Given the description of an element on the screen output the (x, y) to click on. 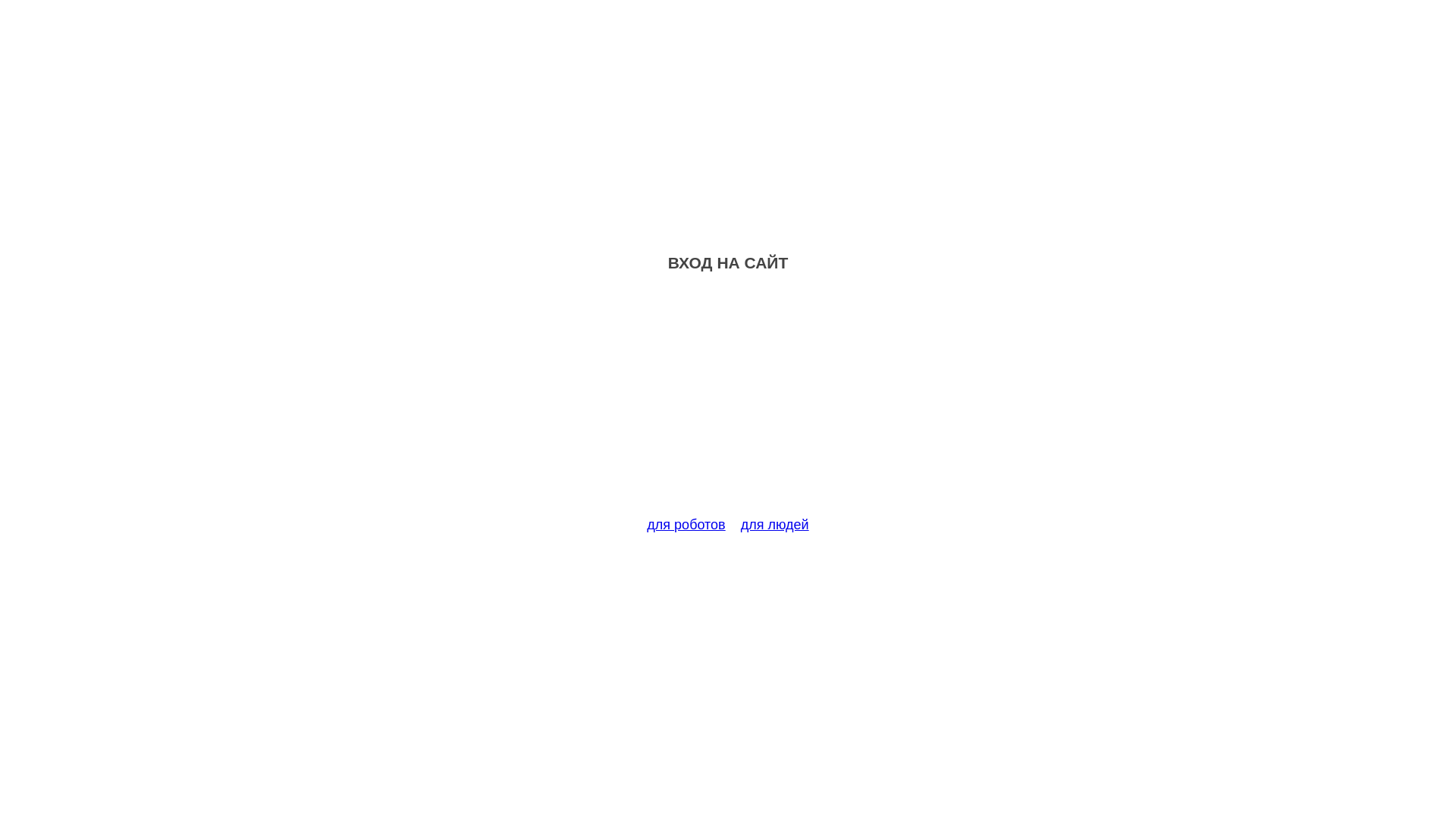
Advertisement Element type: hover (727, 403)
